Given the description of an element on the screen output the (x, y) to click on. 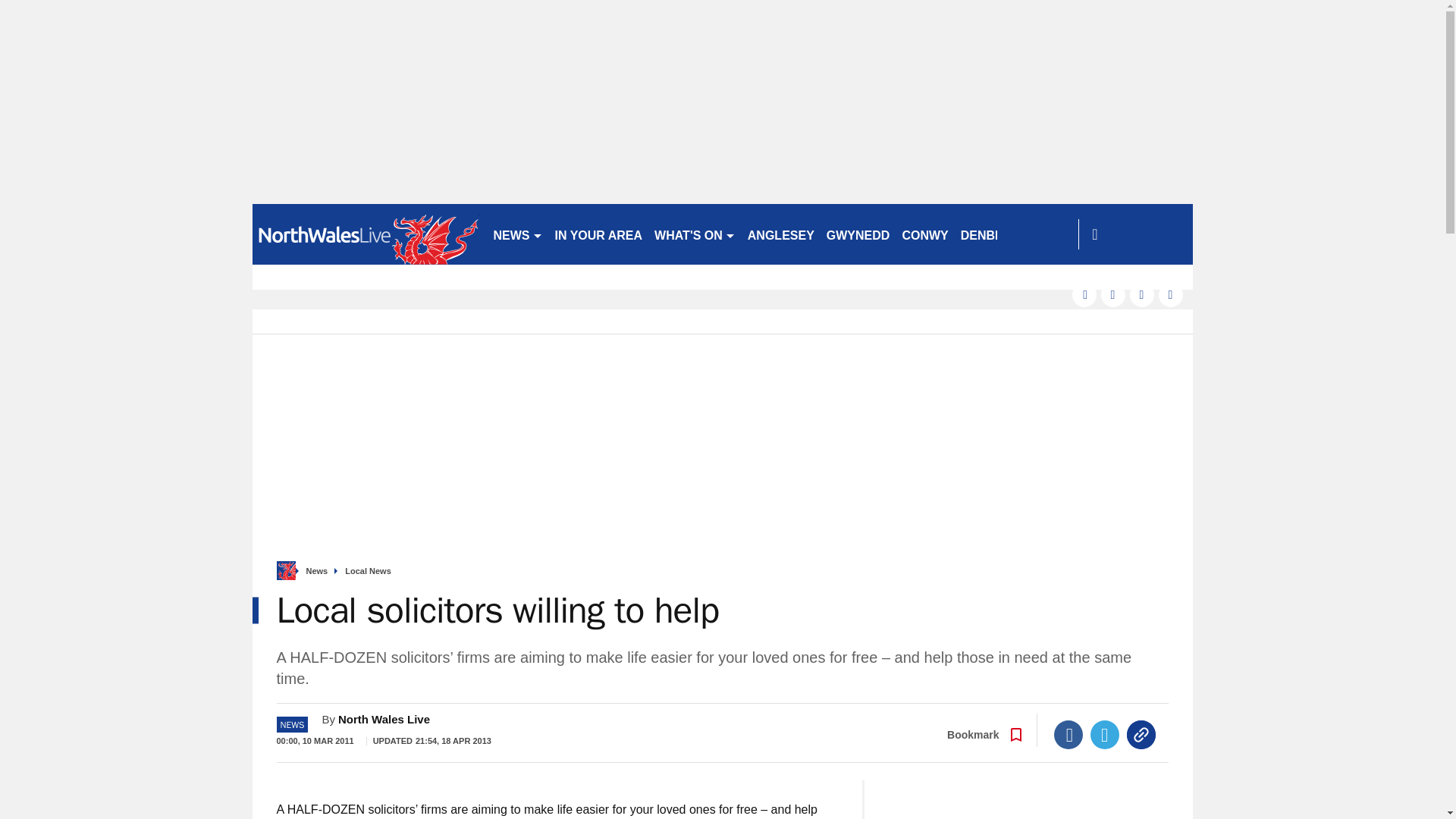
pinterest (1141, 294)
ANGLESEY (781, 233)
instagram (1170, 294)
Facebook (1068, 734)
GWYNEDD (858, 233)
NEWS (517, 233)
Twitter (1104, 734)
twitter (1112, 294)
CONWY (924, 233)
northwales (365, 233)
